Given the description of an element on the screen output the (x, y) to click on. 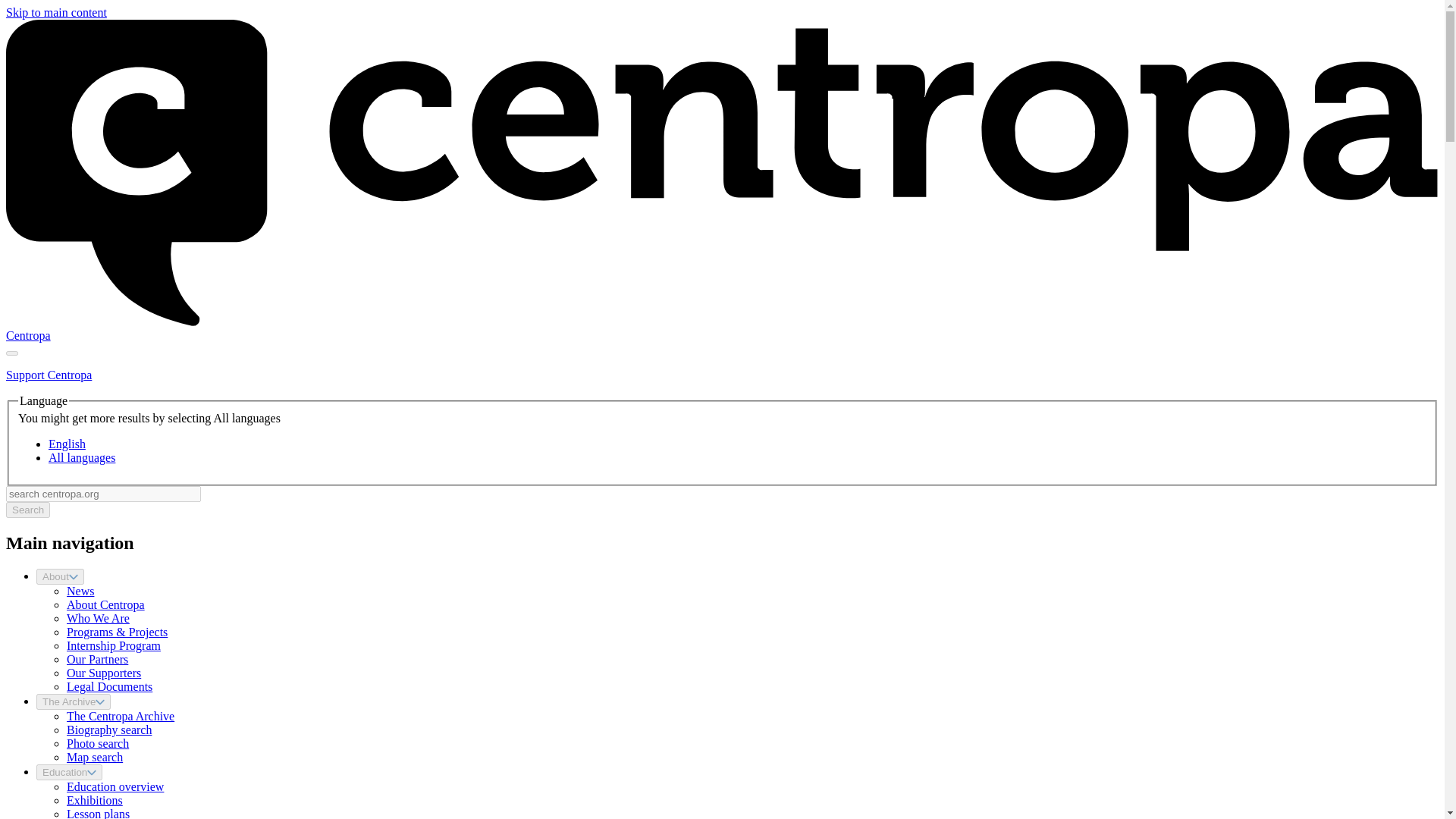
Search (27, 509)
The Centropa Archive (120, 716)
Map search (94, 757)
Lesson plans (97, 813)
Education overview (114, 786)
Internship Program (113, 645)
Our Partners (97, 658)
Biography search (108, 729)
The Archive (73, 701)
Exhibitions (94, 799)
Support Centropa (48, 374)
Who We Are (97, 617)
News (80, 590)
All languages (81, 457)
About (60, 576)
